Given the description of an element on the screen output the (x, y) to click on. 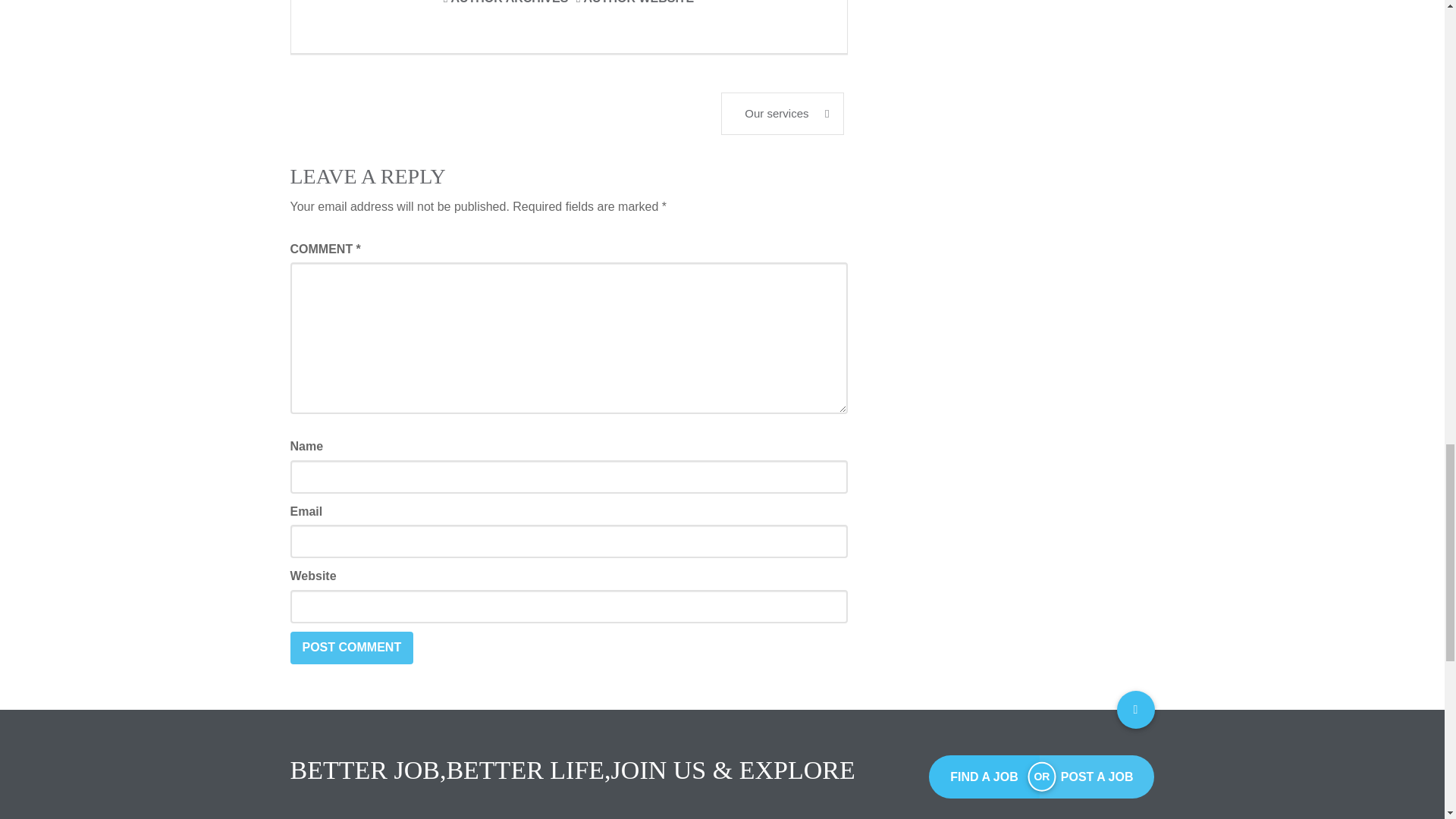
Post Comment (351, 647)
